Given the description of an element on the screen output the (x, y) to click on. 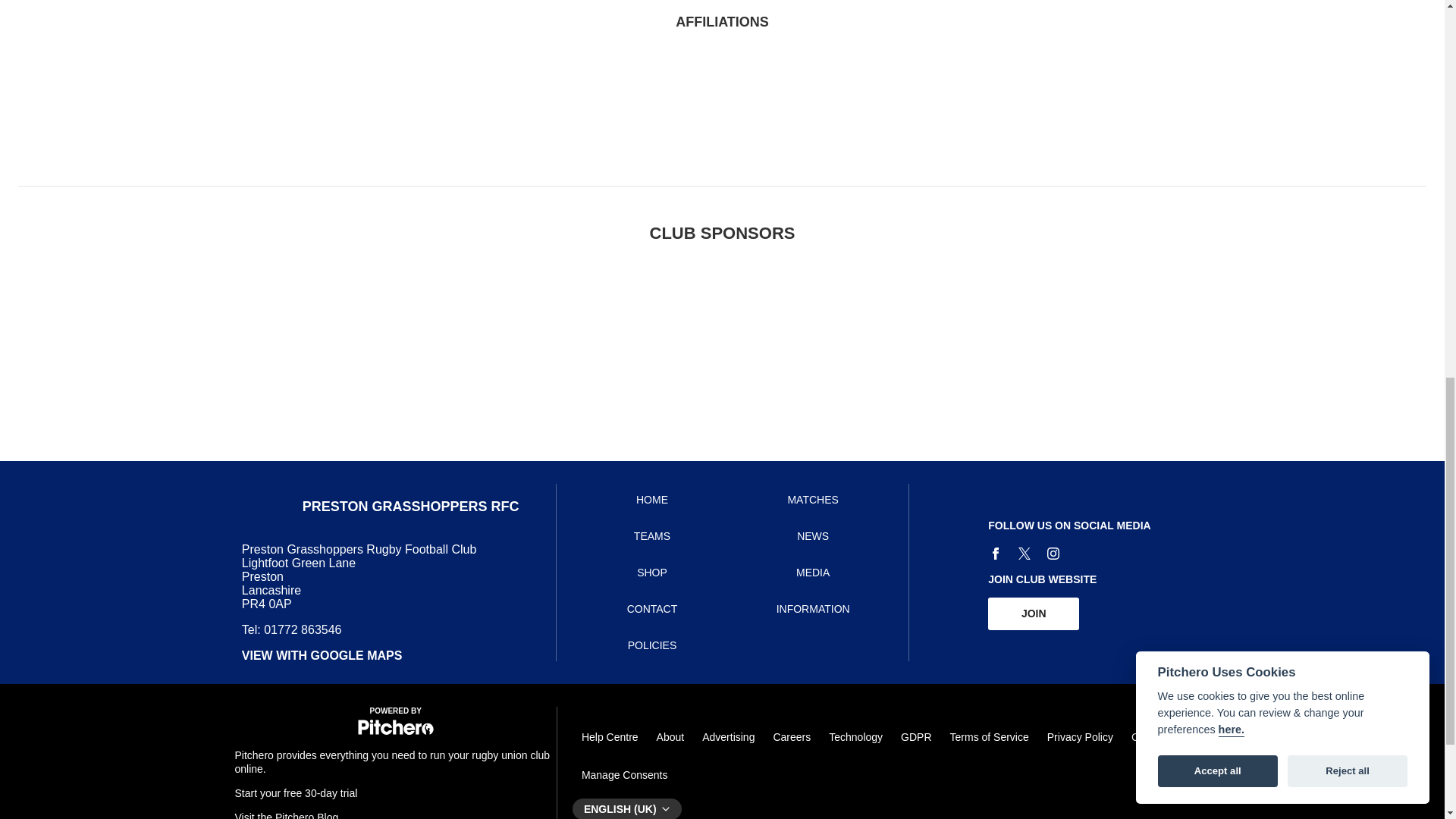
Pitchero (395, 730)
Club Sponsor - Kirkham Grammar School (642, 334)
Club Sponsor - Dentistry by Cure Clinics (1115, 334)
Club Sponsor - Broadway Pharmacy with Cure Clinics (958, 334)
Kit Supplier - Akuma Sports (800, 334)
Club Sponsor - Porsche Centre Preston (485, 334)
Club Sponsor - Harrison Drury Solicitors (327, 334)
